Given the description of an element on the screen output the (x, y) to click on. 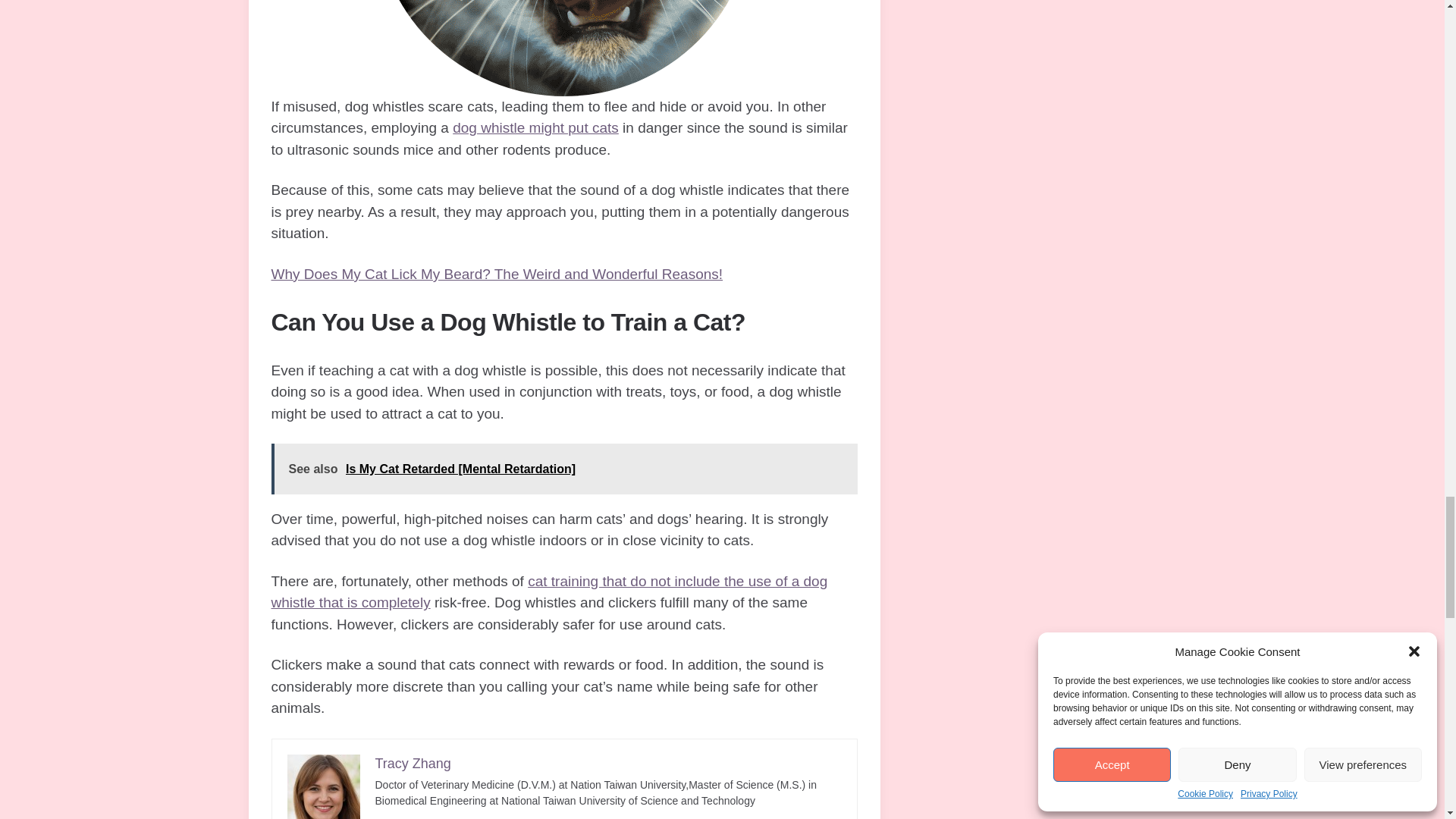
Tracy Zhang (411, 763)
dog whistle might put cats (535, 127)
